Given the description of an element on the screen output the (x, y) to click on. 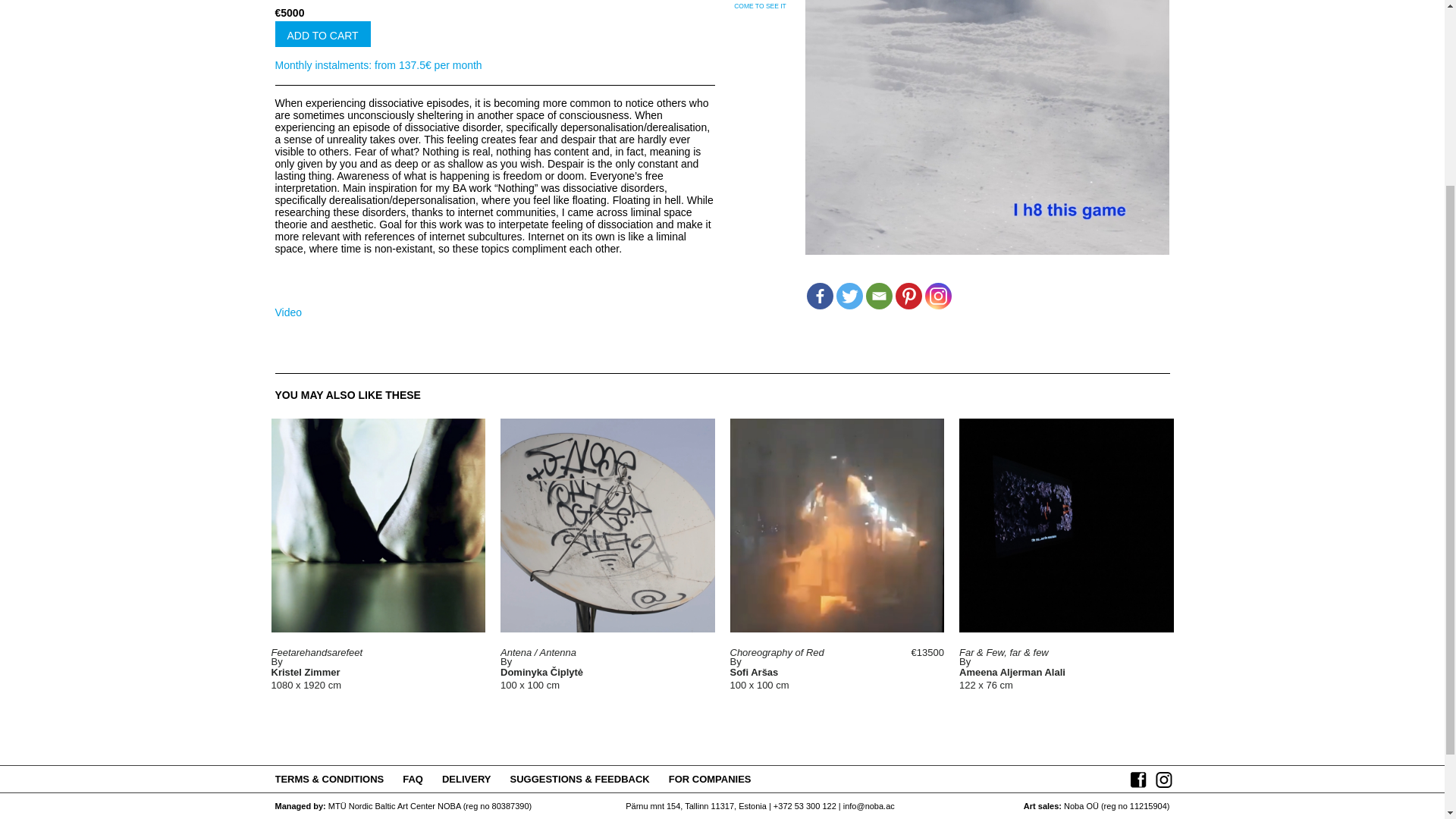
Twitter (849, 295)
Pinterest (908, 295)
ADD TO CART (322, 33)
Video (288, 312)
Instagram (938, 295)
Facebook (819, 295)
Email (879, 295)
